Given the description of an element on the screen output the (x, y) to click on. 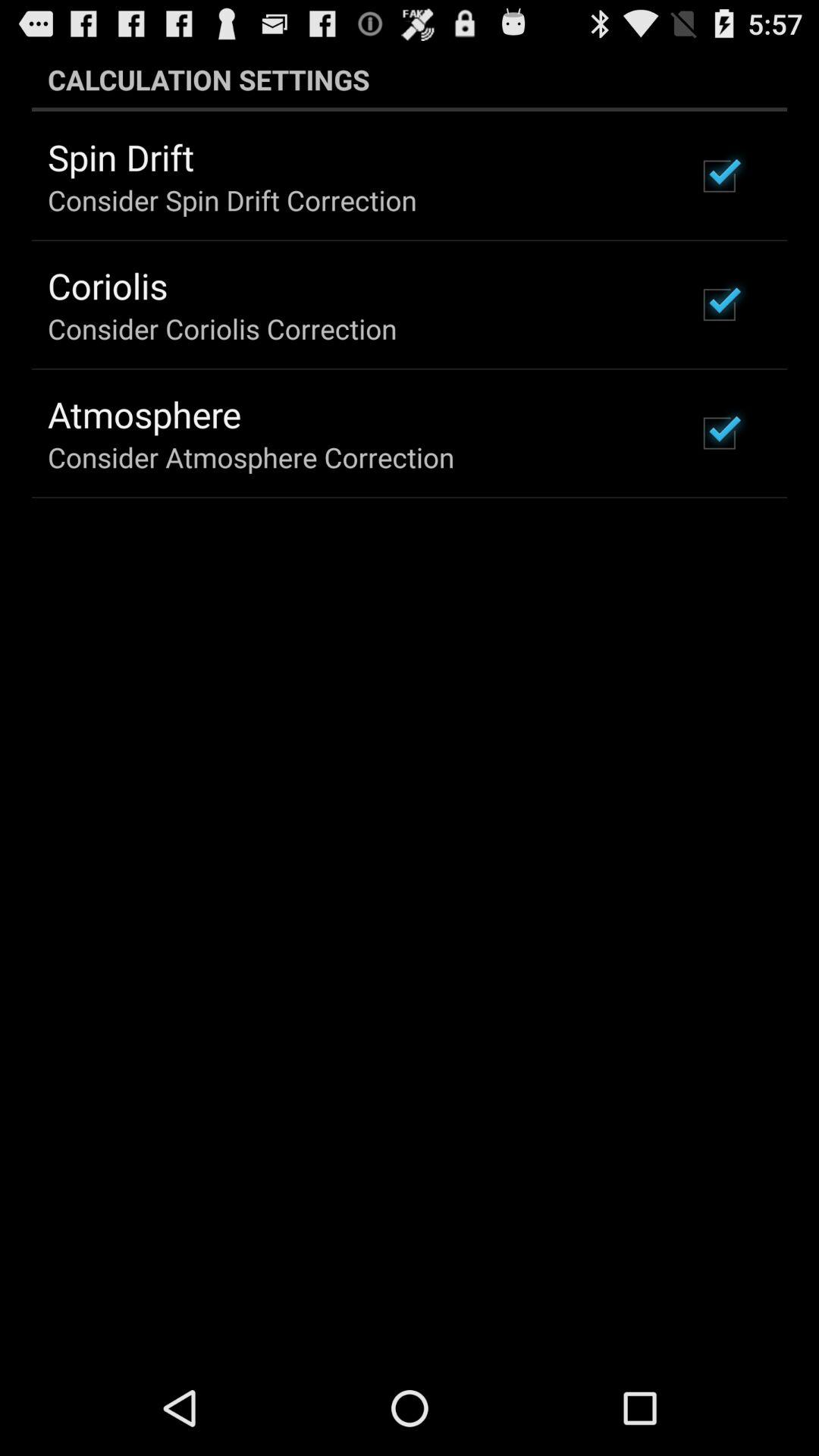
tap item at the top (409, 79)
